Given the description of an element on the screen output the (x, y) to click on. 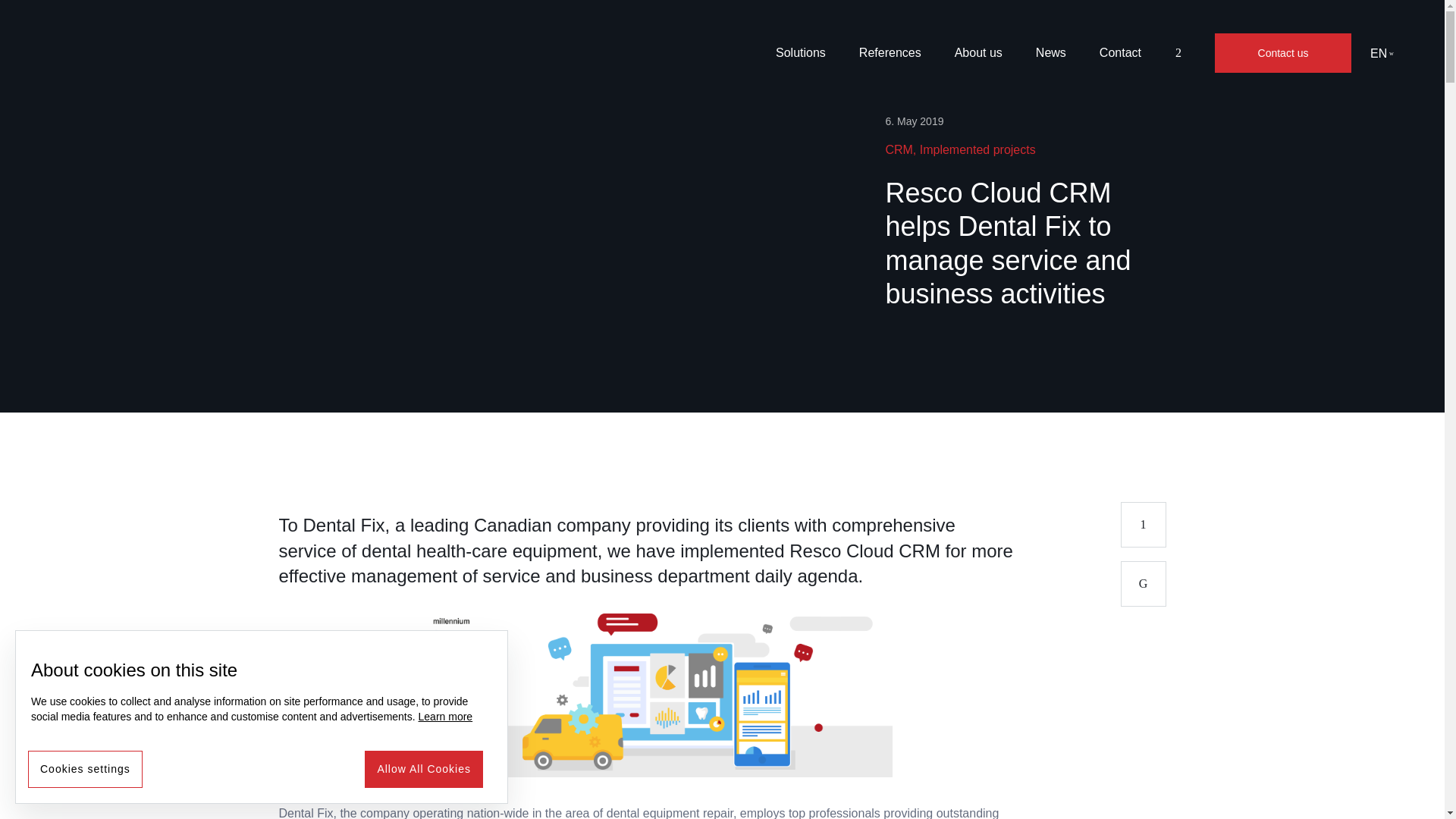
About us (978, 52)
Contact us (1282, 52)
CRM (898, 149)
Solutions (800, 52)
Implemented projects (977, 149)
References (890, 52)
News (1051, 52)
EN (1384, 53)
Contact (1120, 52)
